Given the description of an element on the screen output the (x, y) to click on. 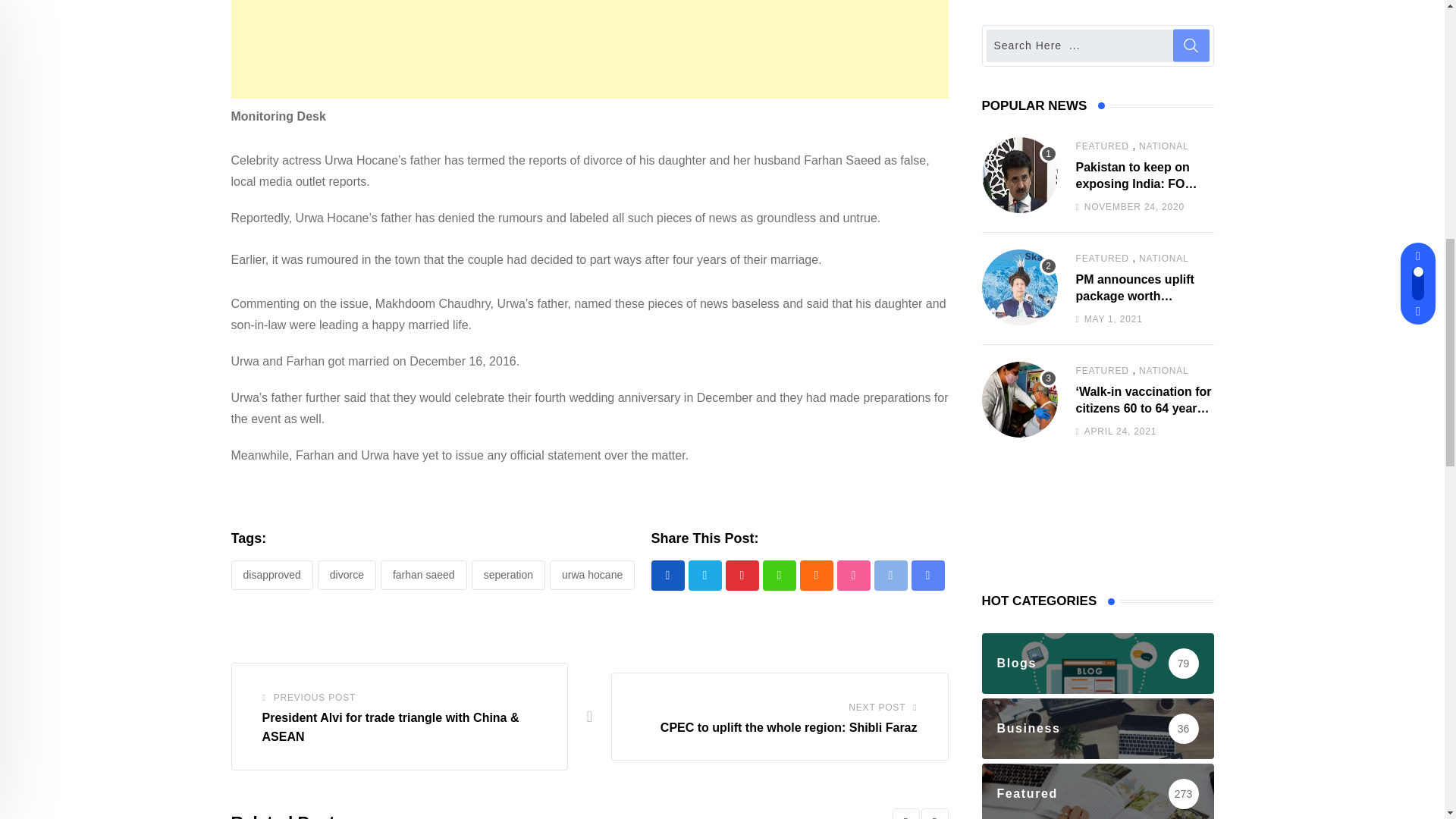
Advertisement (588, 49)
Pakistan to keep on exposing India: FO spokesperson (1019, 174)
